Given the description of an element on the screen output the (x, y) to click on. 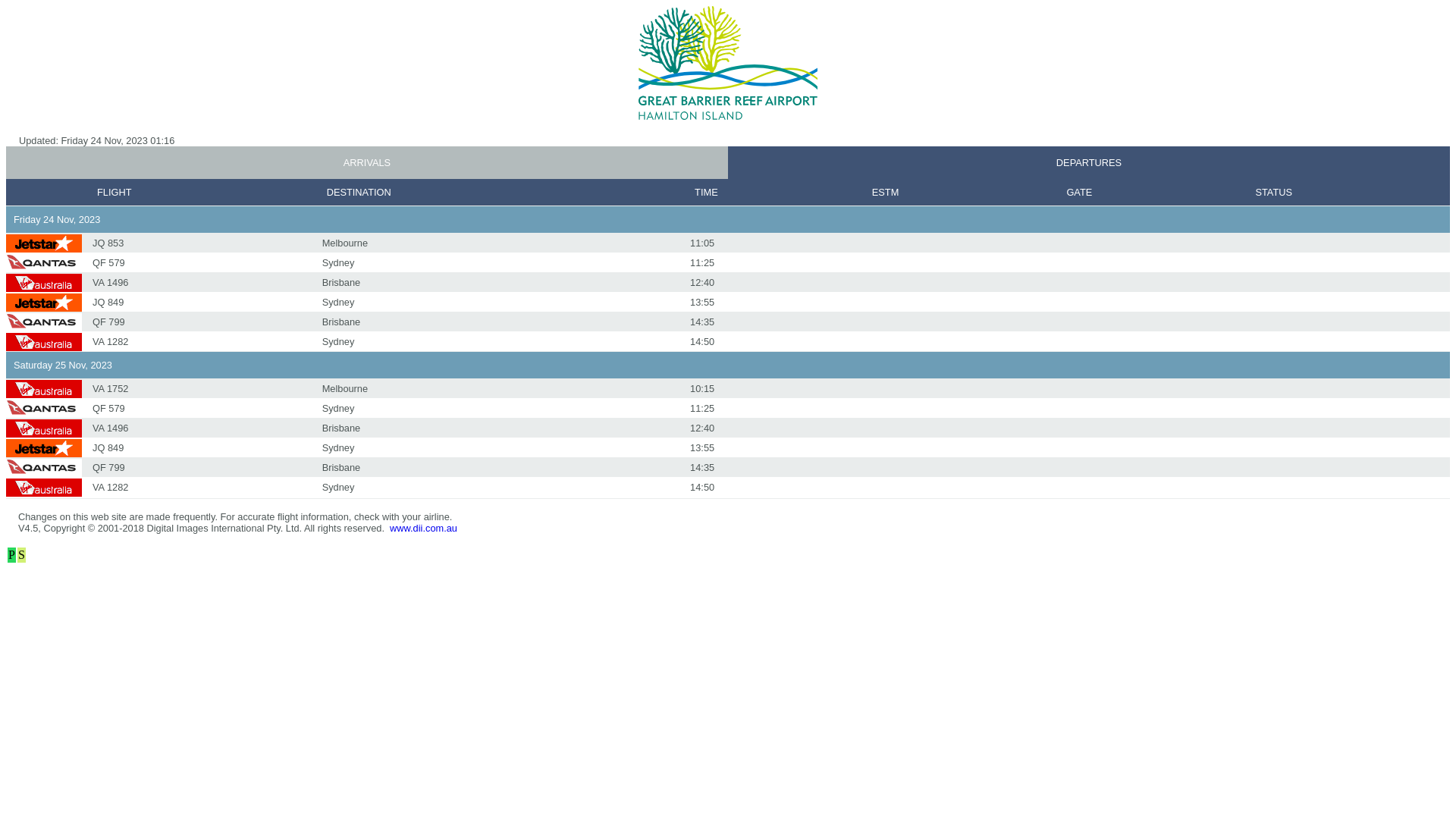
ARRIVALS Element type: text (366, 162)
www.dii.com.au Element type: text (423, 527)
